Given the description of an element on the screen output the (x, y) to click on. 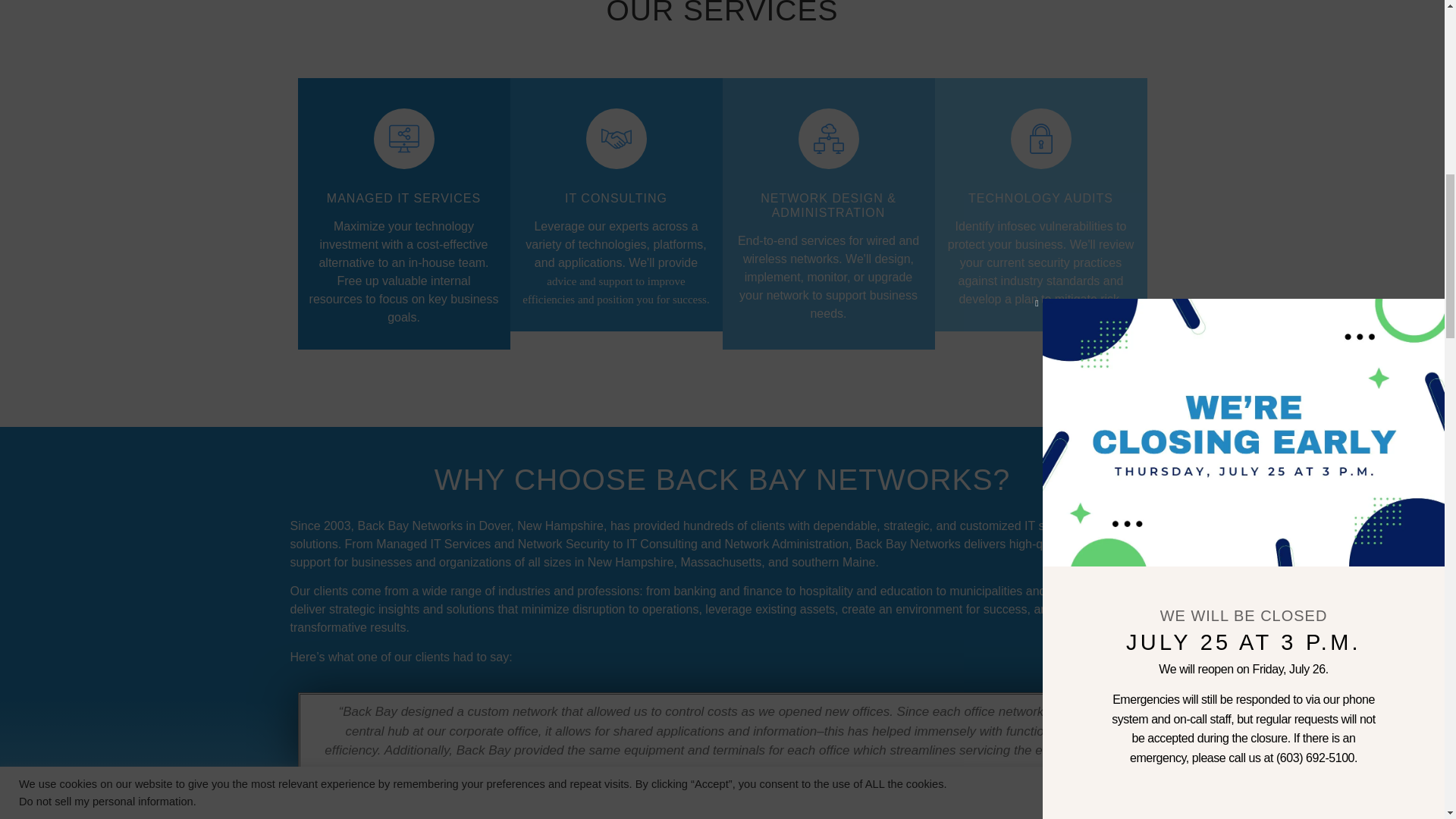
MANAGED IT SERVICES (403, 197)
IT CONSULTING (615, 197)
TECHNOLOGY AUDITS (1040, 197)
